Given the description of an element on the screen output the (x, y) to click on. 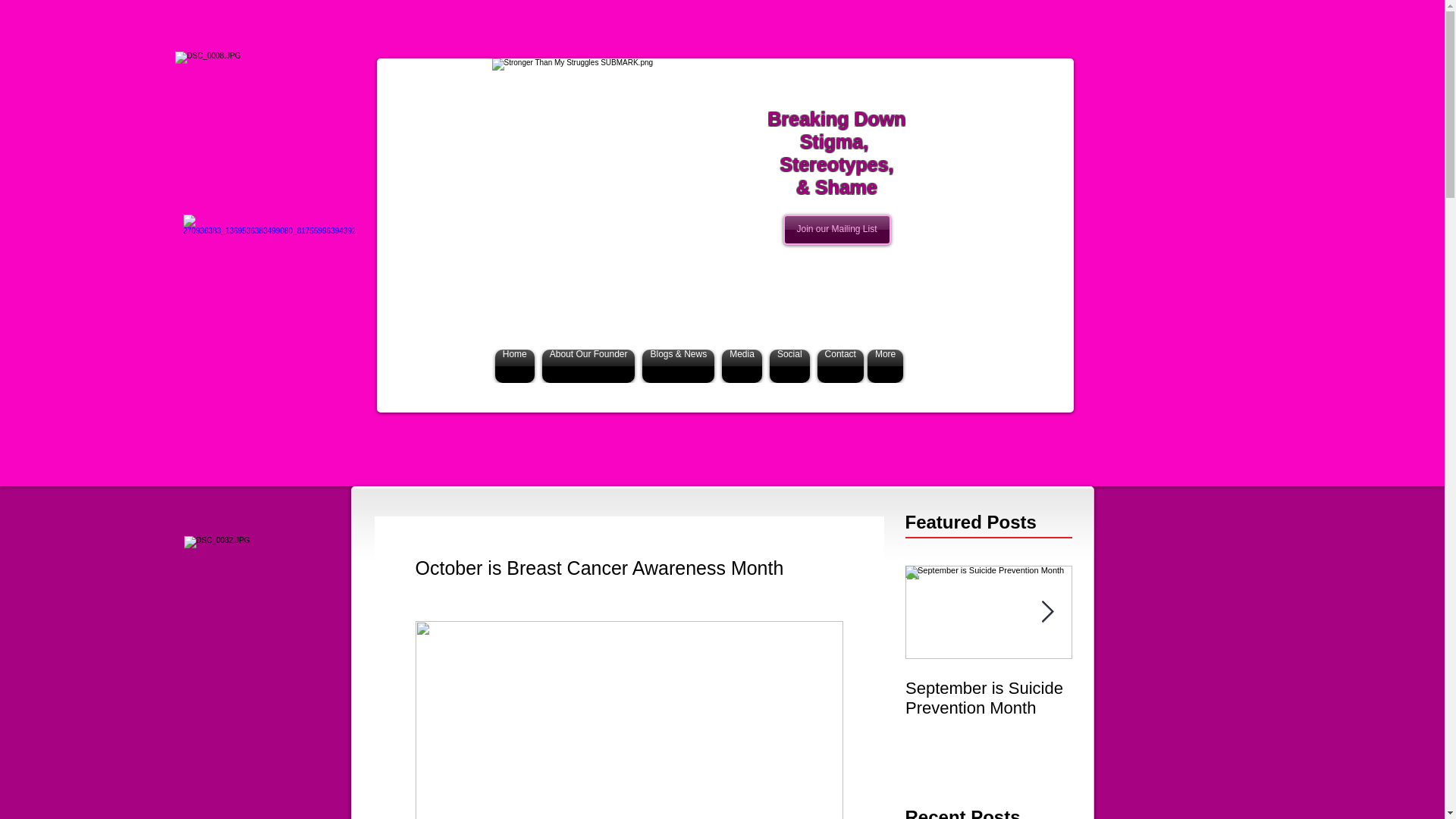
Social (789, 366)
Home (516, 366)
September is Suicide Prevention Month (988, 698)
Contact (838, 366)
Join our Mailing List (836, 229)
Media (741, 366)
About Our Founder (588, 366)
